Given the description of an element on the screen output the (x, y) to click on. 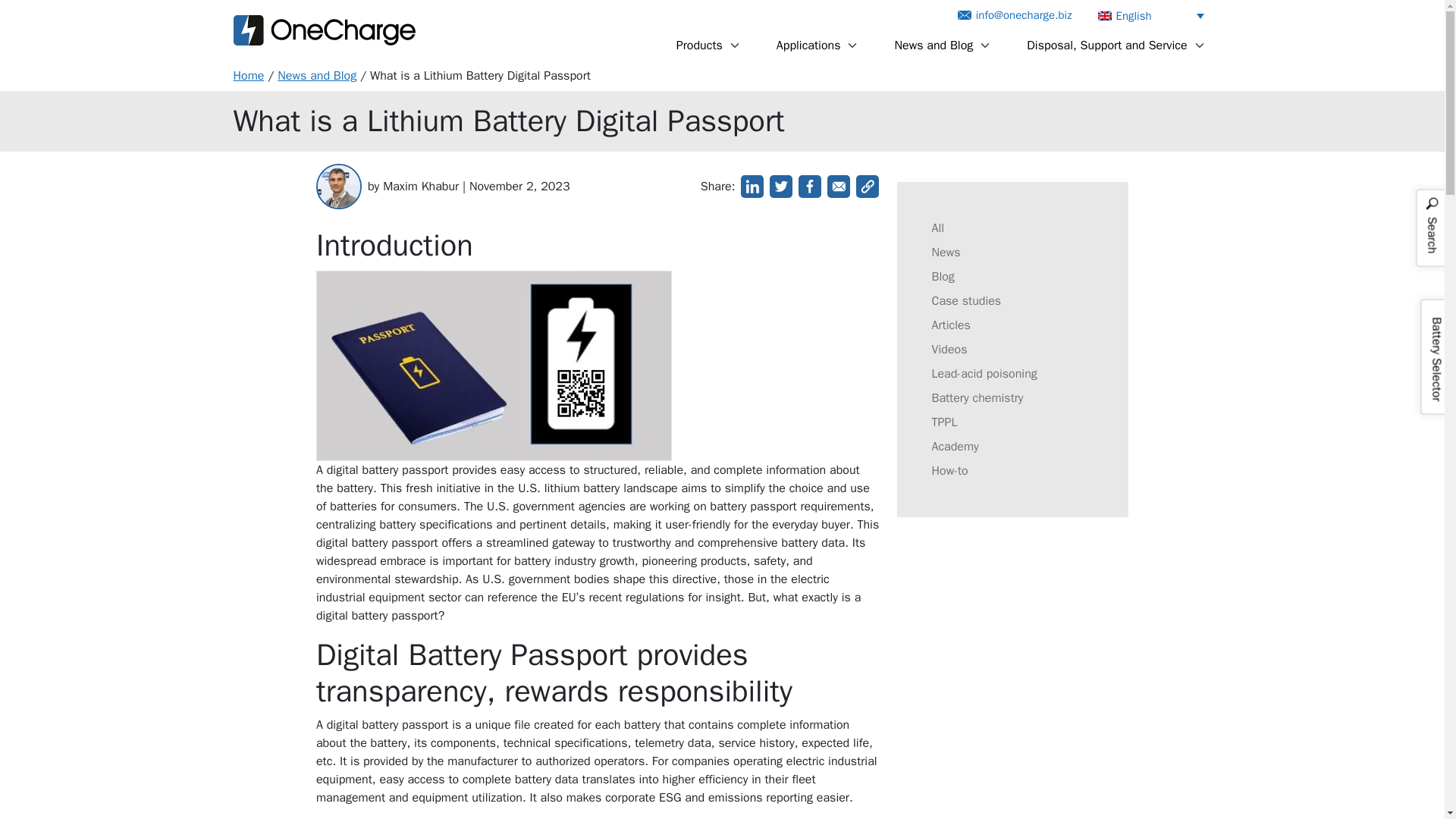
Products (702, 45)
Applications (811, 45)
